Given the description of an element on the screen output the (x, y) to click on. 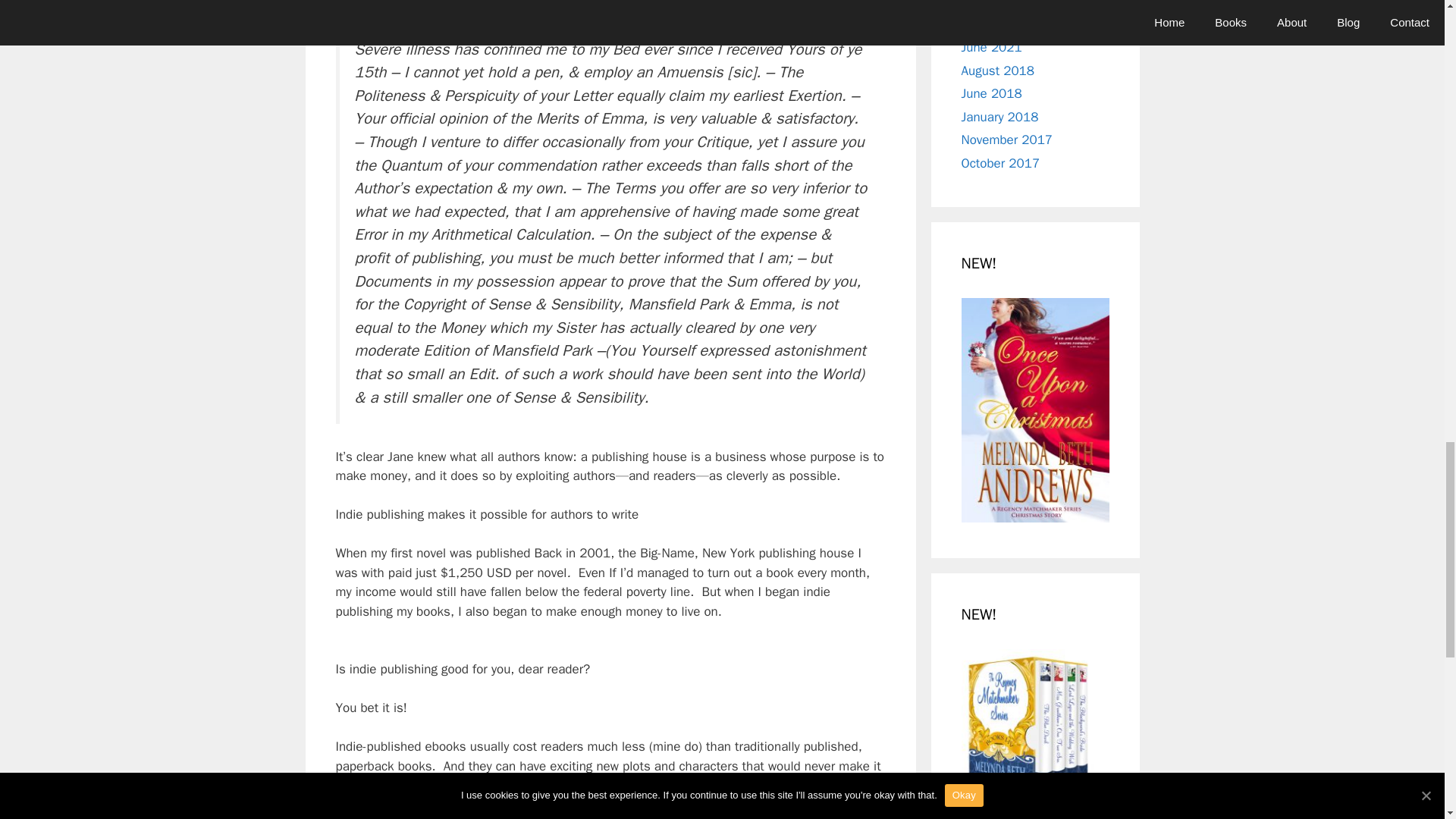
June 2021 (991, 47)
August 2018 (996, 70)
November 2017 (1006, 139)
June 2018 (991, 93)
January 2018 (999, 116)
June 2023 (991, 24)
